Given the description of an element on the screen output the (x, y) to click on. 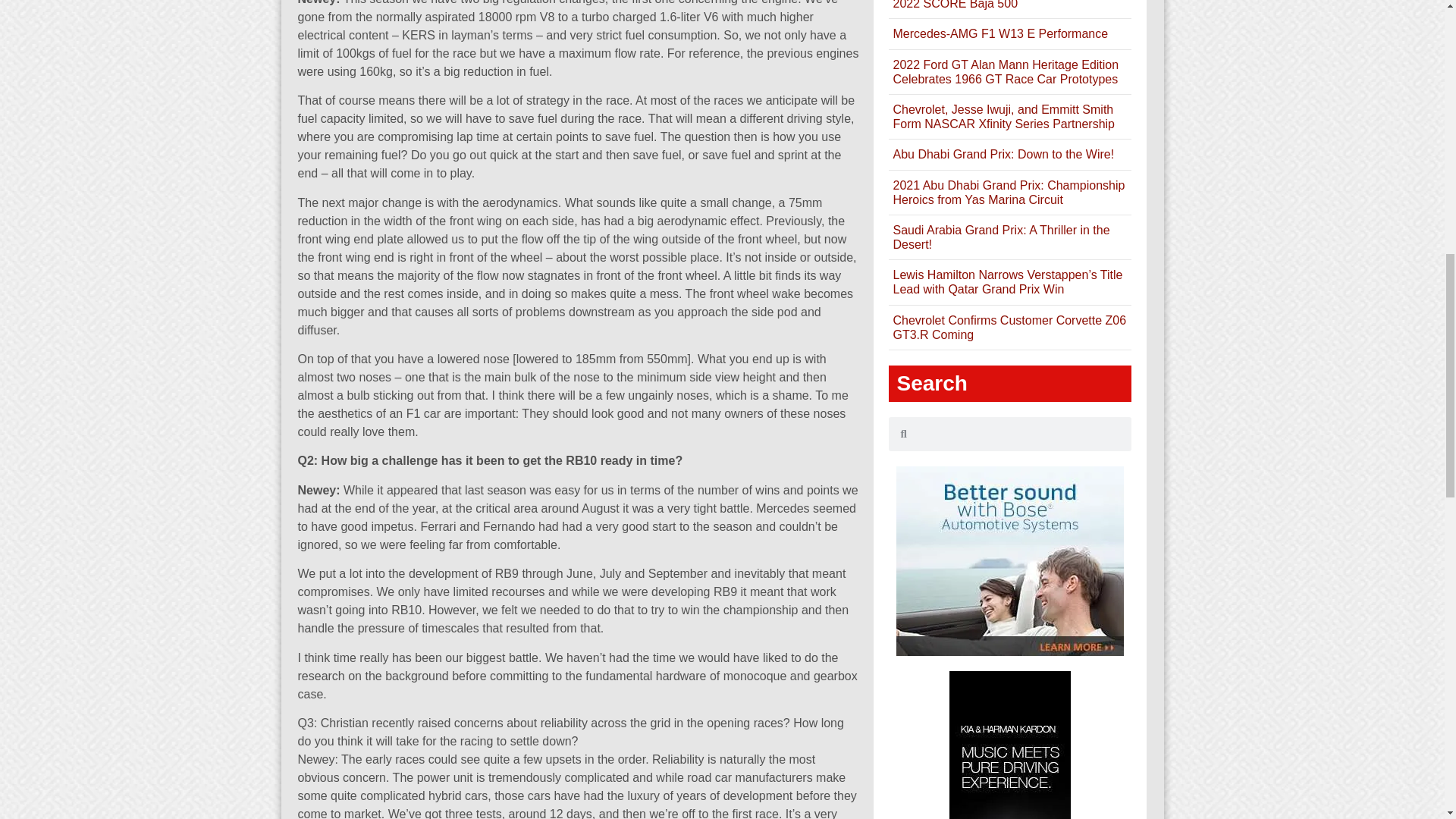
Abu Dhabi Grand Prix: Down to the Wire! (1002, 154)
Mercedes-AMG F1 W13 E Performance (1000, 33)
BFGoodrich Racing Rides Momentum to 2022 SCORE Baja 500 (1000, 4)
